Given the description of an element on the screen output the (x, y) to click on. 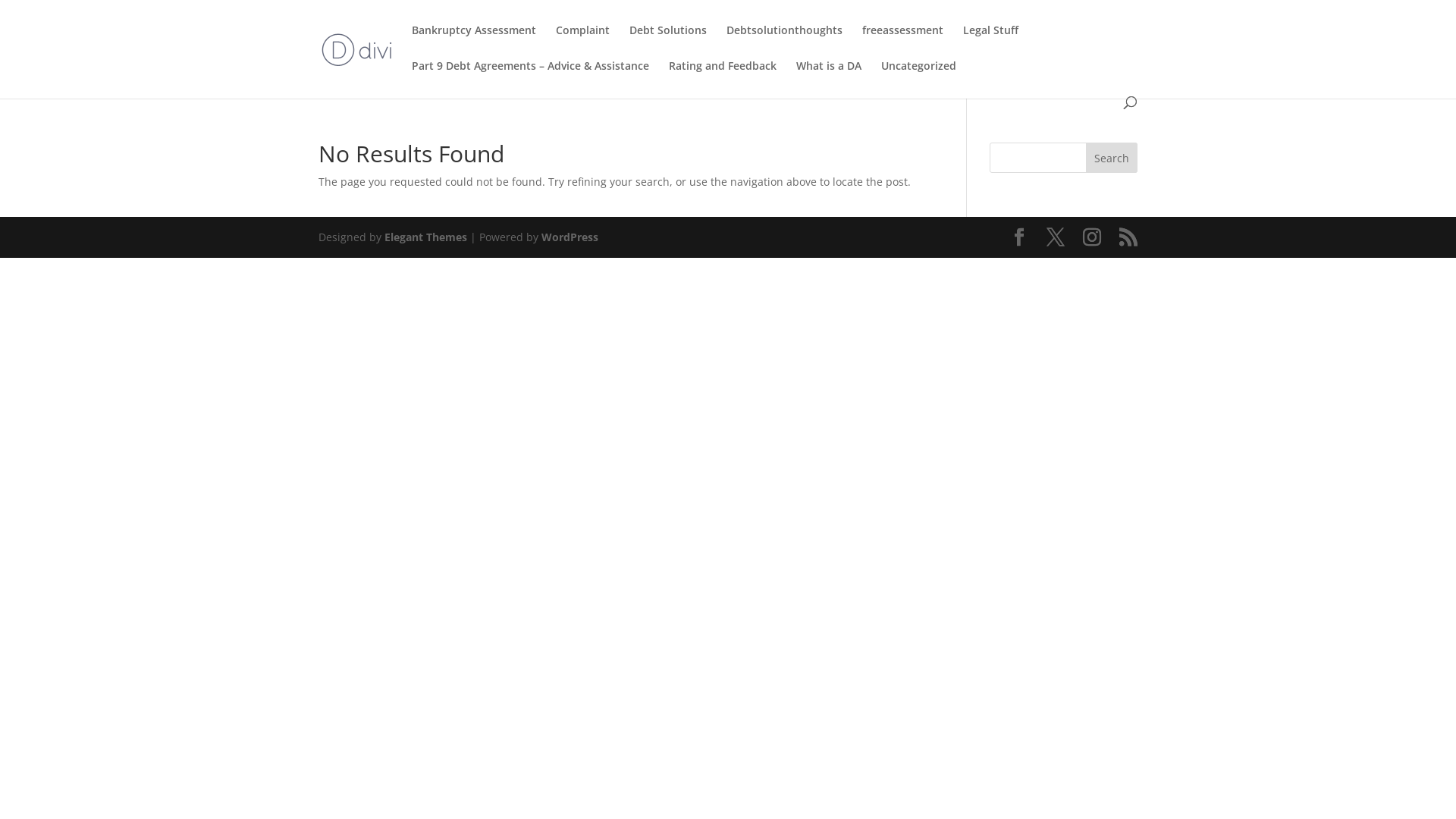
Search Element type: text (1111, 157)
Elegant Themes Element type: text (425, 236)
Bankruptcy Assessment Element type: text (473, 42)
Rating and Feedback Element type: text (722, 78)
WordPress Element type: text (569, 236)
Uncategorized Element type: text (918, 78)
Complaint Element type: text (582, 42)
Legal Stuff Element type: text (990, 42)
freeassessment Element type: text (902, 42)
What is a DA Element type: text (828, 78)
Debt Solutions Element type: text (667, 42)
Debtsolutionthoughts Element type: text (784, 42)
